Given the description of an element on the screen output the (x, y) to click on. 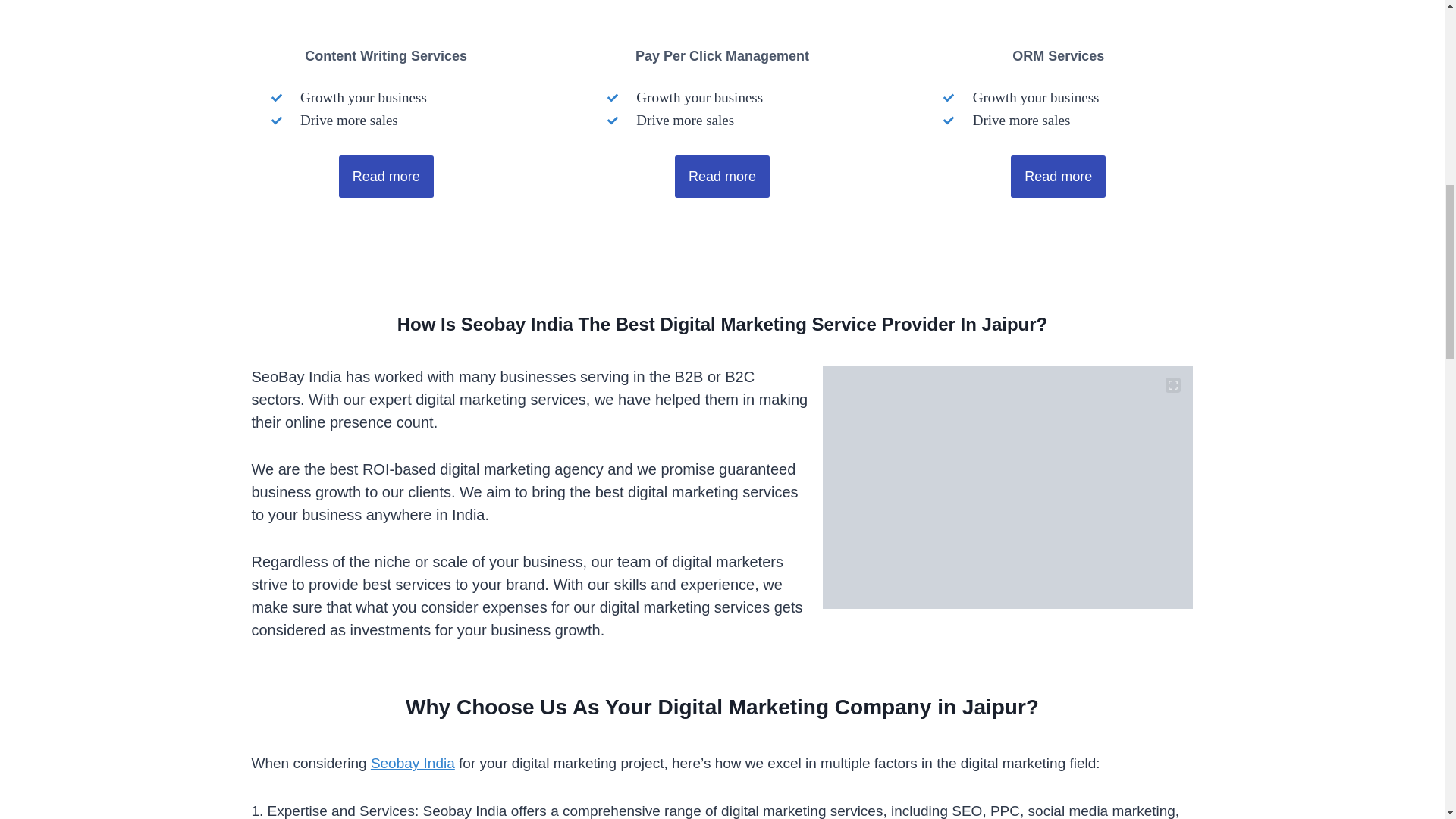
Read more (722, 177)
Read more (386, 177)
Read more (1057, 177)
Seobay India (412, 763)
